Given the description of an element on the screen output the (x, y) to click on. 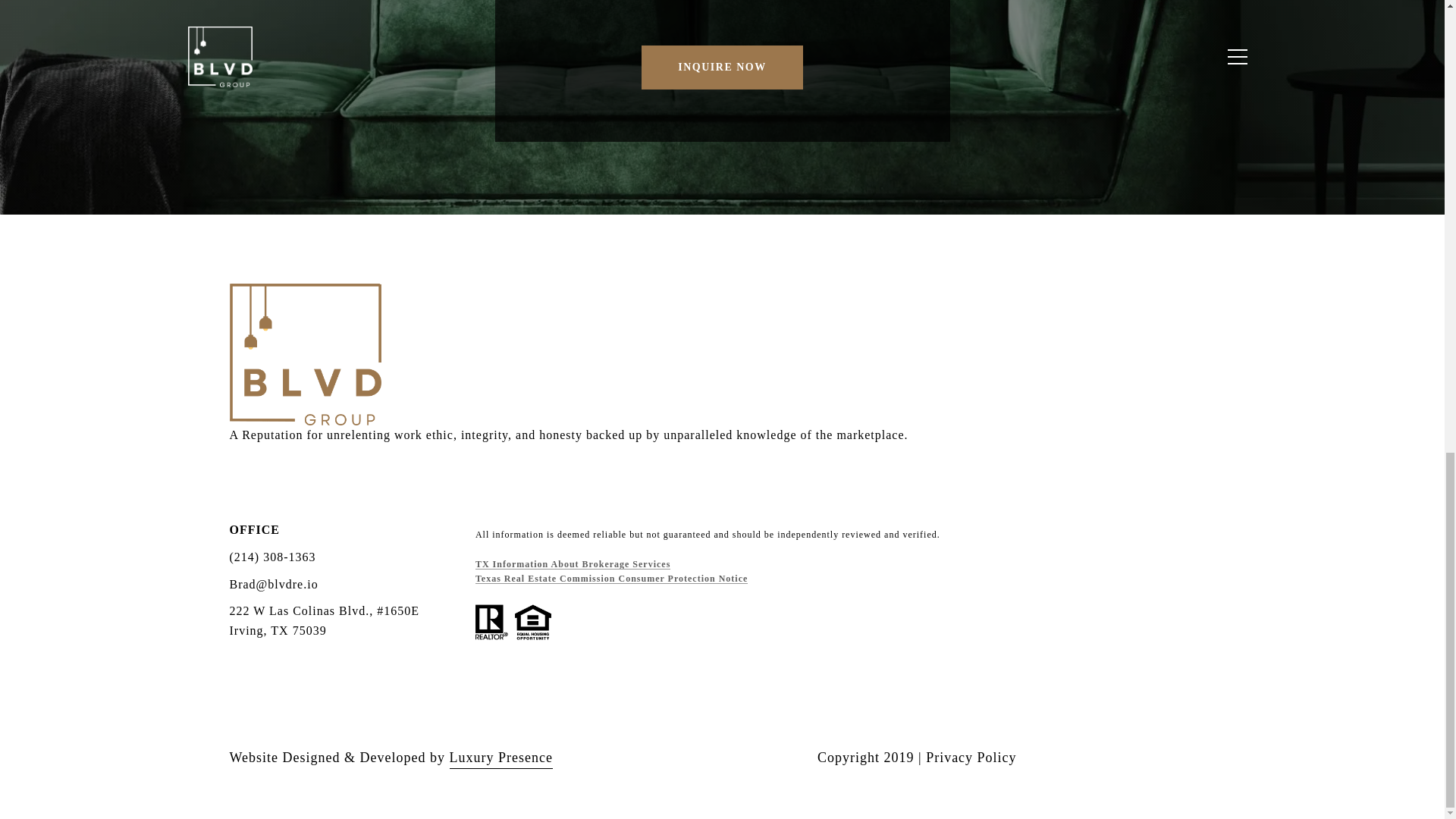
INQUIRE NOW (722, 67)
Texas Real Estate Commission Consumer Protection Notice (612, 578)
TX Information About Brokerage Services (572, 563)
